Given the description of an element on the screen output the (x, y) to click on. 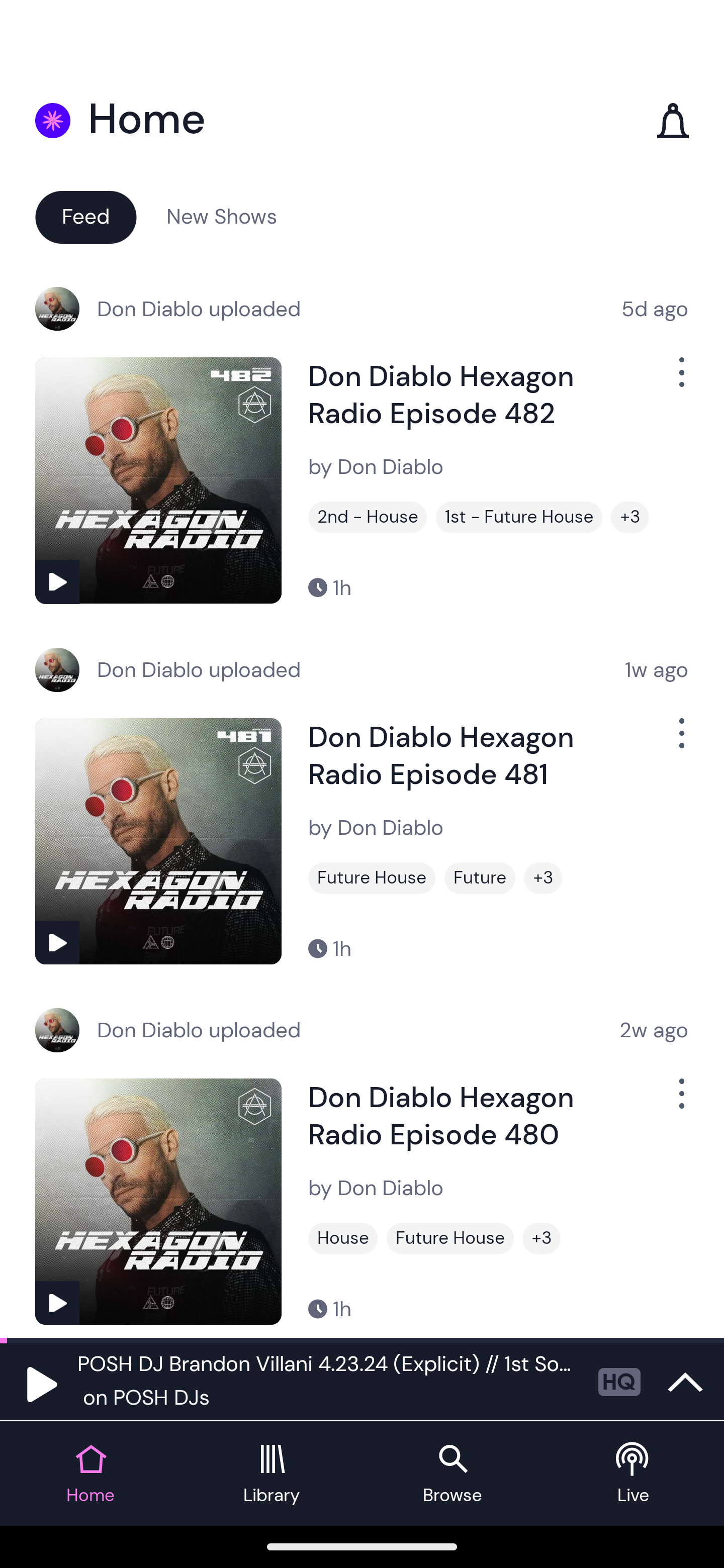
Feed (85, 216)
New Shows (221, 216)
Show Options Menu Button (679, 379)
2nd - House (367, 517)
1st - Future House (518, 517)
Show Options Menu Button (679, 740)
Future House (371, 877)
Future (479, 877)
Show Options Menu Button (679, 1101)
House (342, 1238)
Future House (450, 1238)
Home tab Home (90, 1473)
Library tab Library (271, 1473)
Browse tab Browse (452, 1473)
Live tab Live (633, 1473)
